Given the description of an element on the screen output the (x, y) to click on. 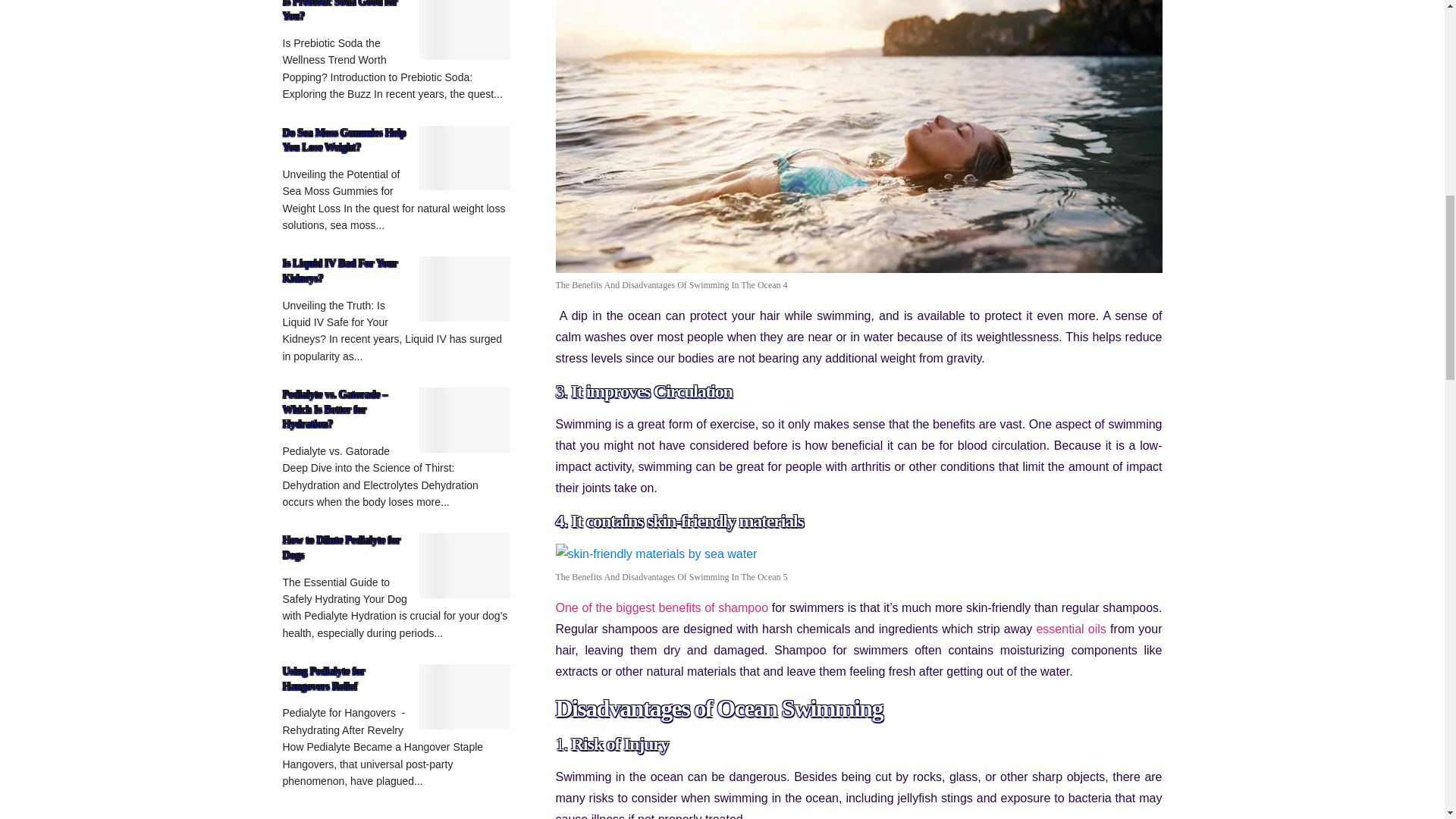
The Benefits And Disadvantages Of Swimming In The Ocean 2 (655, 554)
